Given the description of an element on the screen output the (x, y) to click on. 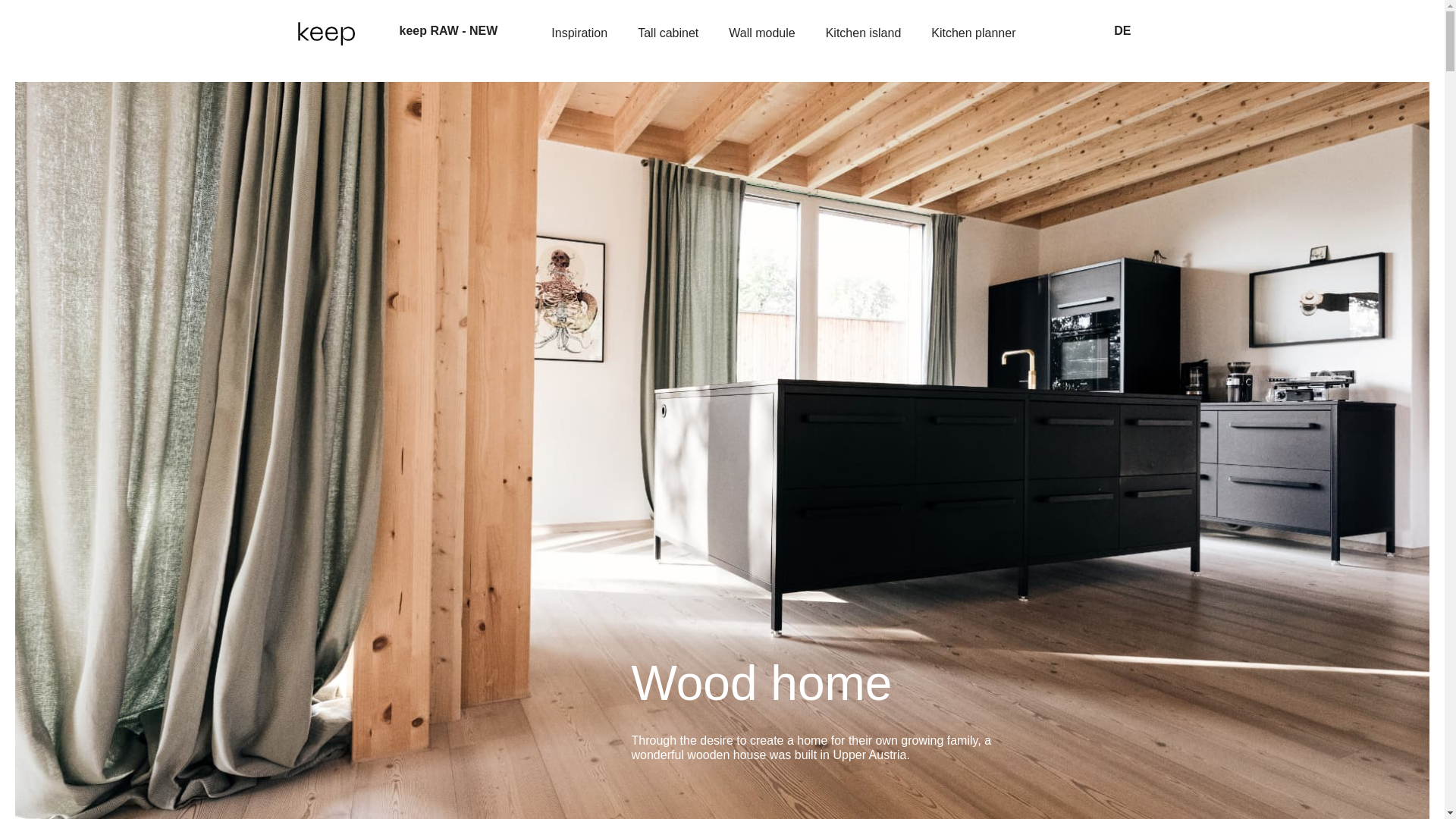
Inspiration (579, 33)
Tall cabinet (668, 33)
keep RAW - NEW (452, 30)
DE (1122, 30)
Wall module (761, 33)
Kitchen planner (972, 33)
Kitchen island (863, 33)
